Given the description of an element on the screen output the (x, y) to click on. 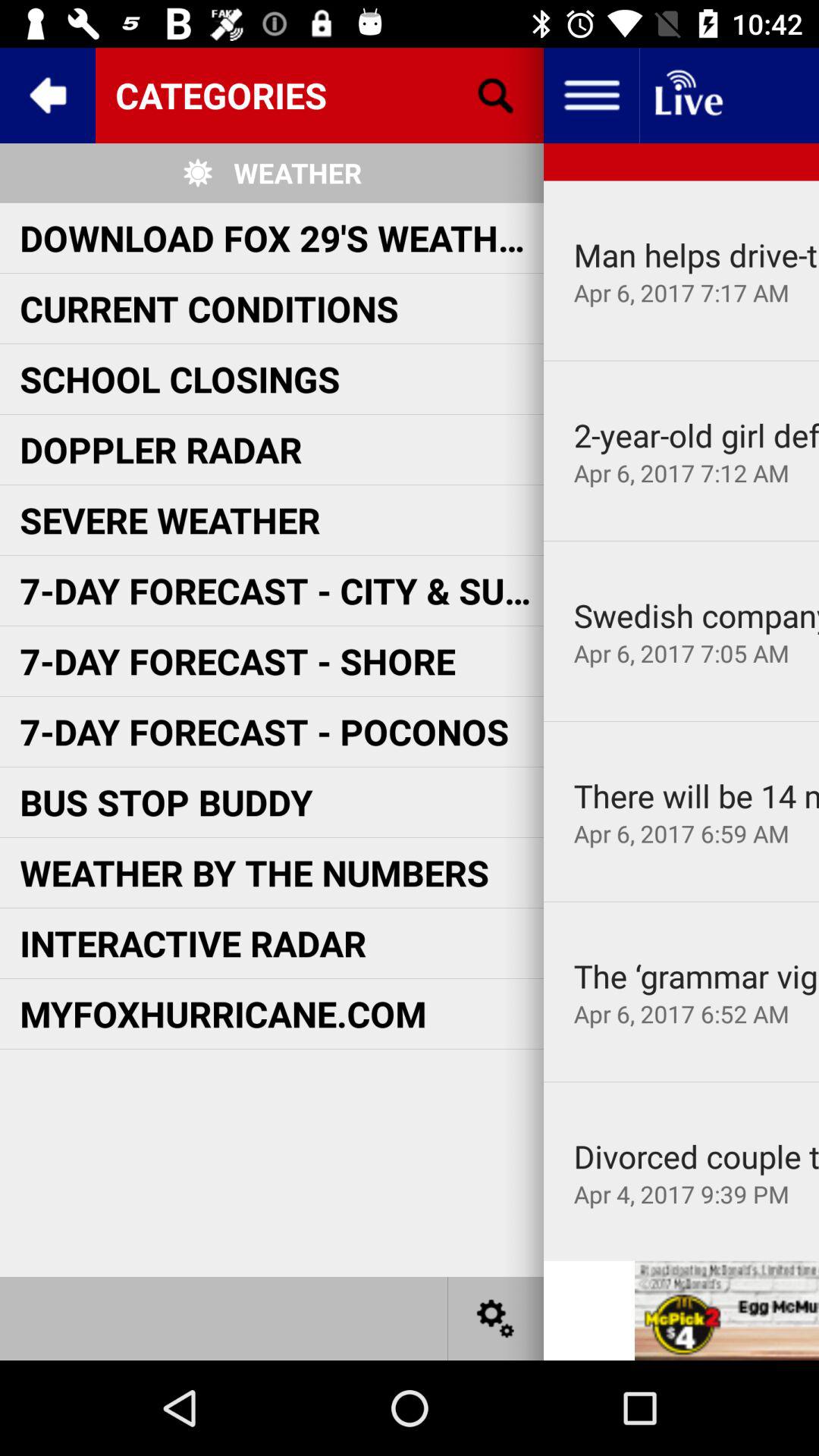
press the current conditions item (208, 308)
